Given the description of an element on the screen output the (x, y) to click on. 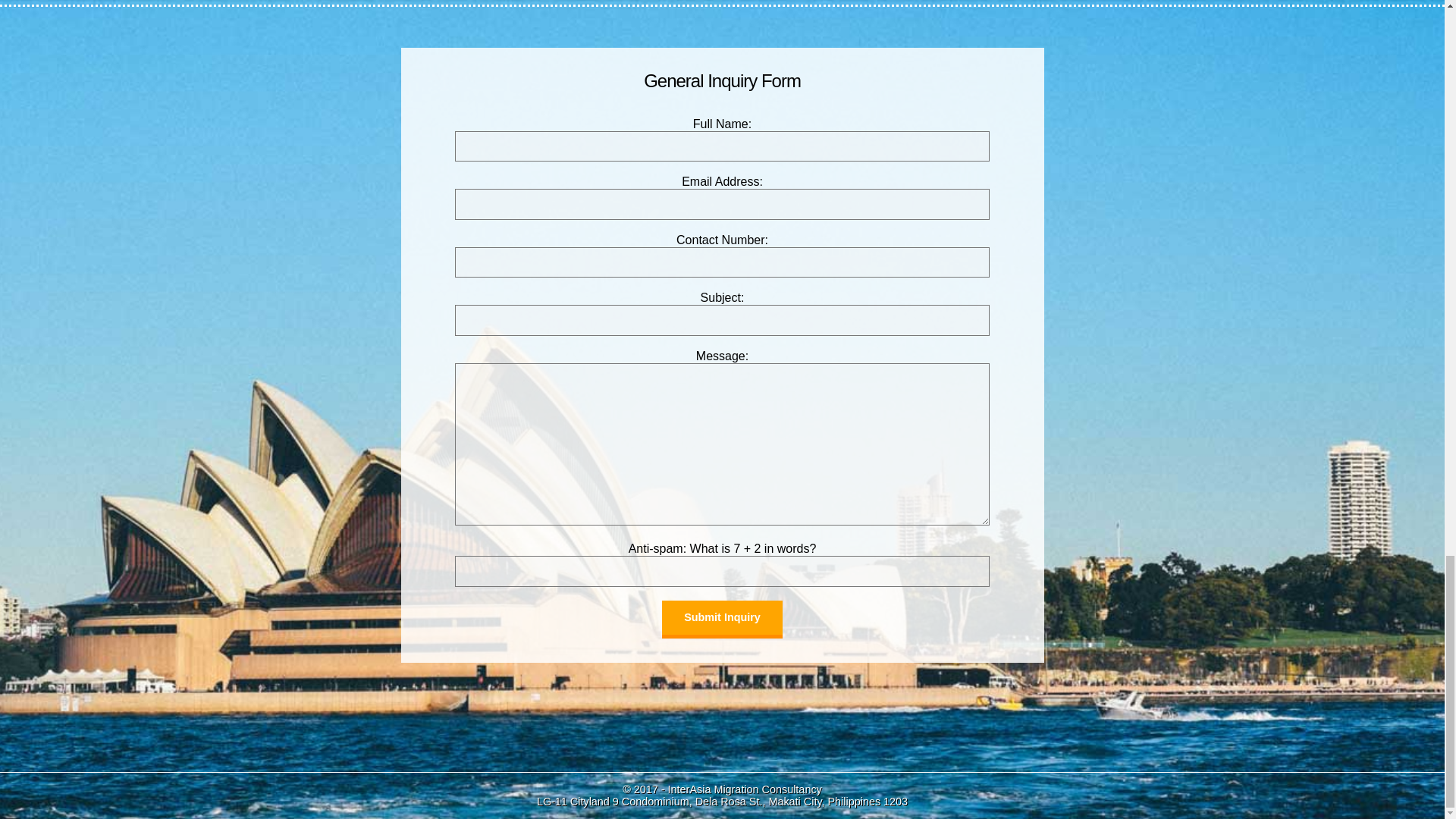
Submit Inquiry (721, 619)
Submit Inquiry (721, 619)
